Given the description of an element on the screen output the (x, y) to click on. 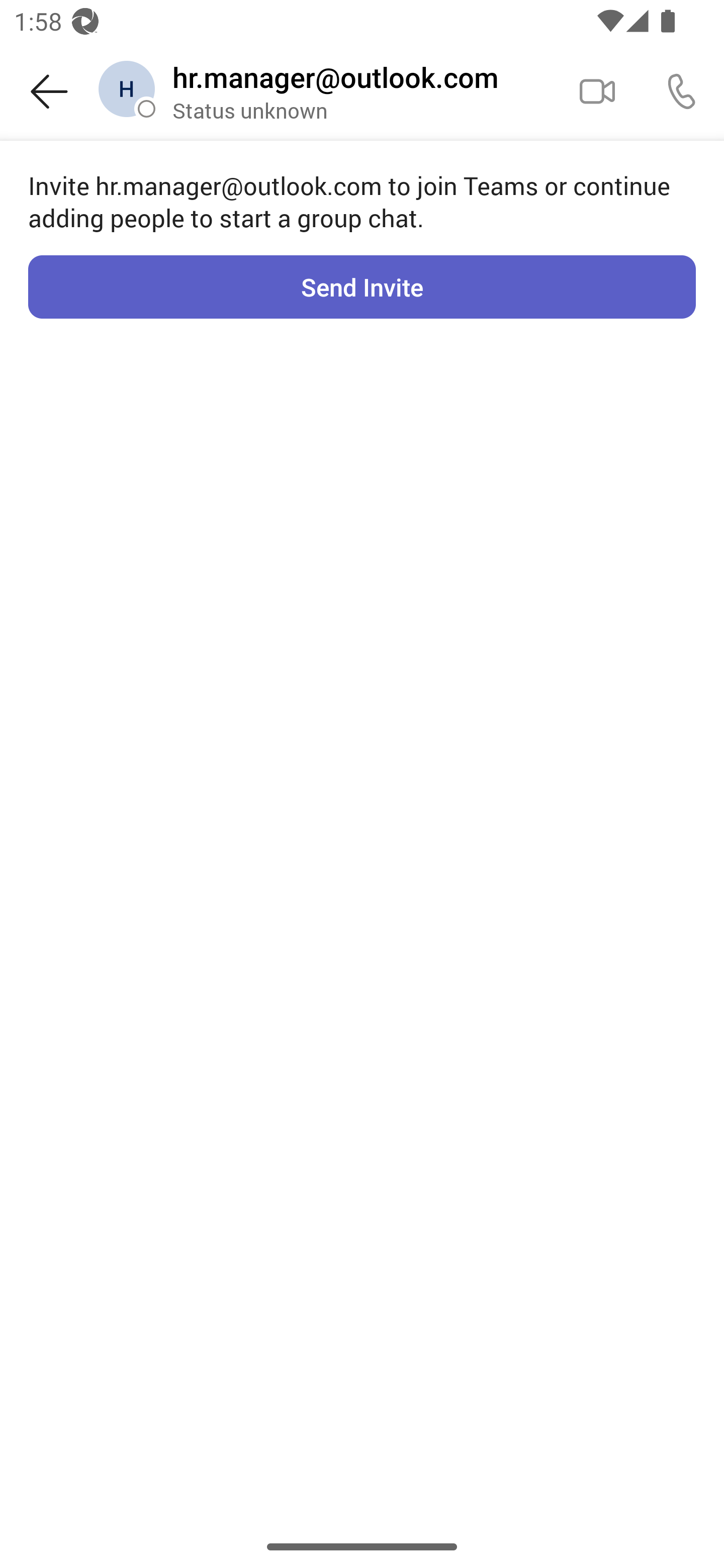
Back (49, 91)
Video Call (597, 90)
Audio Call (681, 90)
Send Invite (361, 286)
